Given the description of an element on the screen output the (x, y) to click on. 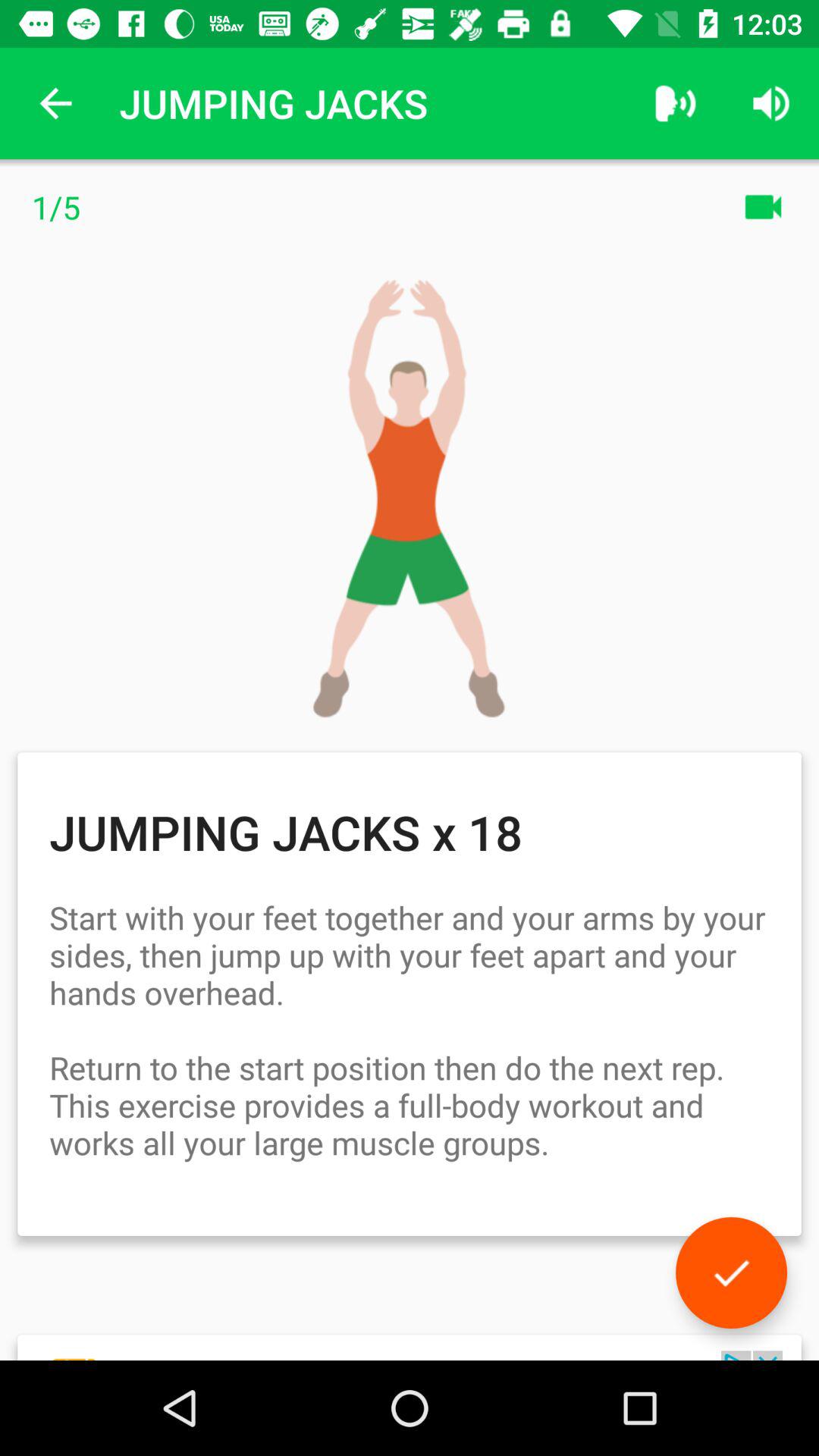
tap the item to the left of the jumping jacks app (55, 103)
